Given the description of an element on the screen output the (x, y) to click on. 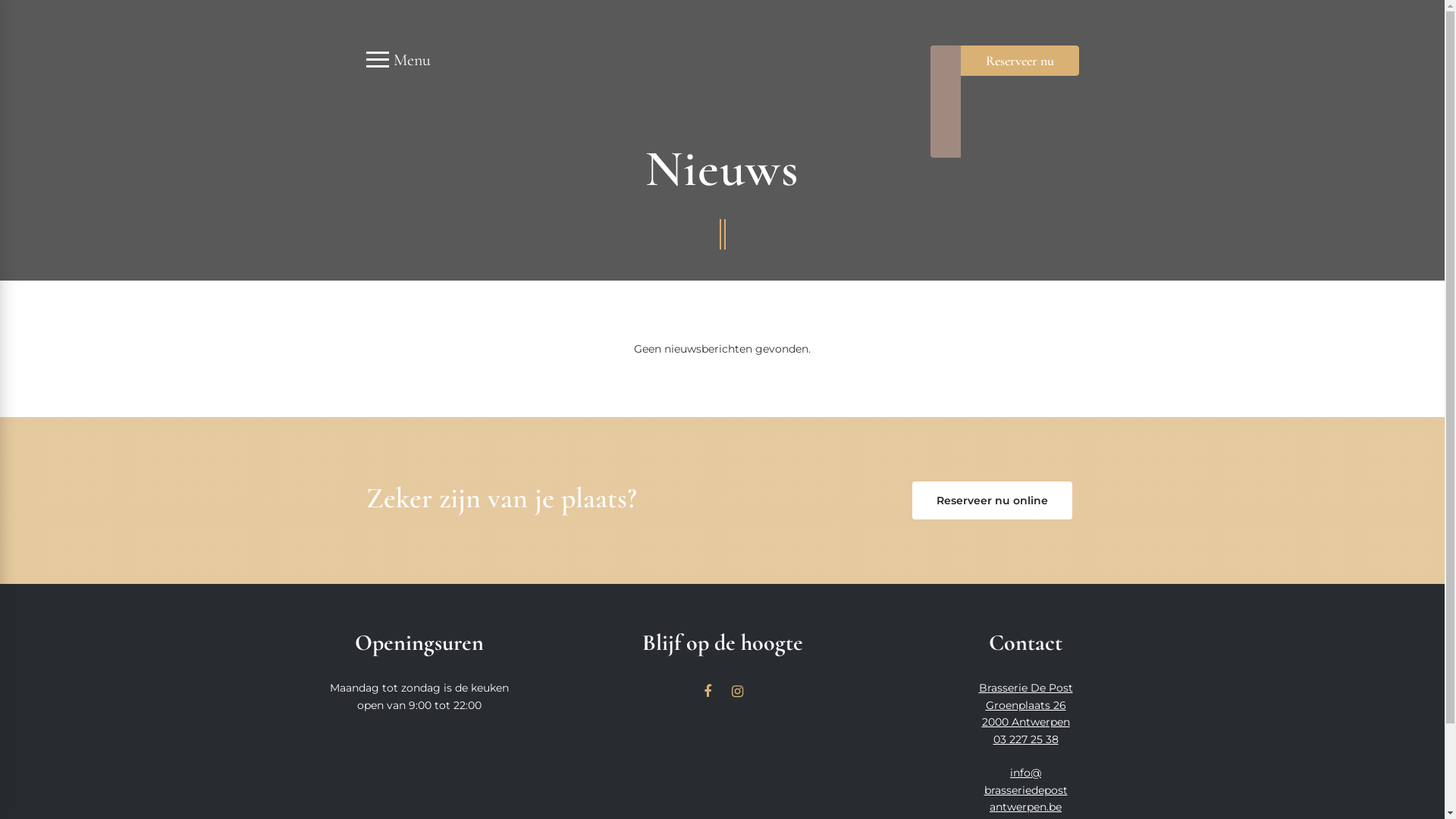
info@
brasseriedepost
antwerpen.be Element type: text (1025, 789)
Menu Element type: text (397, 59)
Reserveer nu online Element type: text (991, 500)
Brasserie De Post
Groenplaats 26
2000 Antwerpen Element type: text (1025, 704)
Reserveer nu Element type: text (1003, 60)
03 227 25 38 Element type: text (1025, 739)
